Given the description of an element on the screen output the (x, y) to click on. 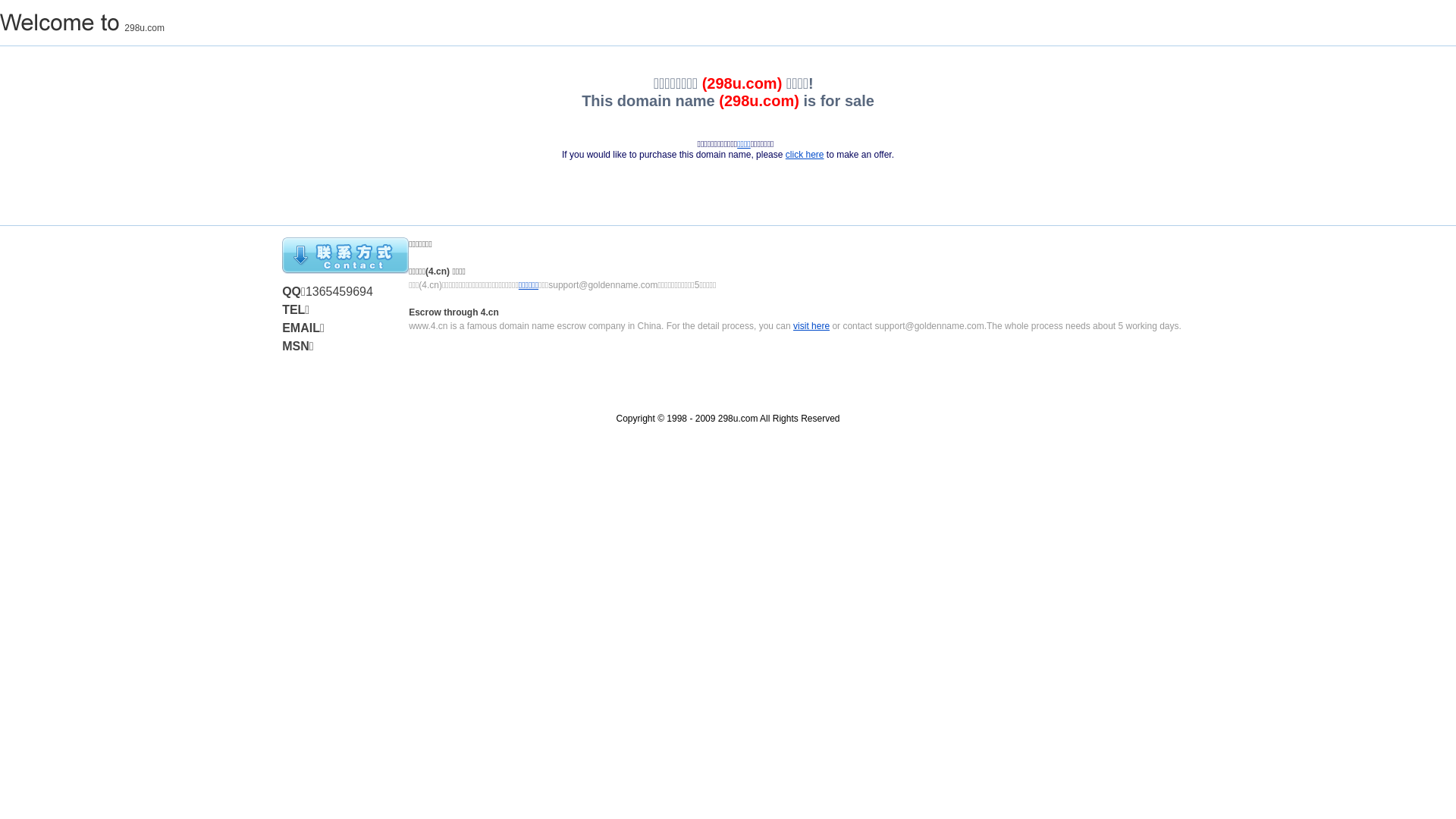
visit here Element type: text (811, 325)
click here Element type: text (804, 154)
